Given the description of an element on the screen output the (x, y) to click on. 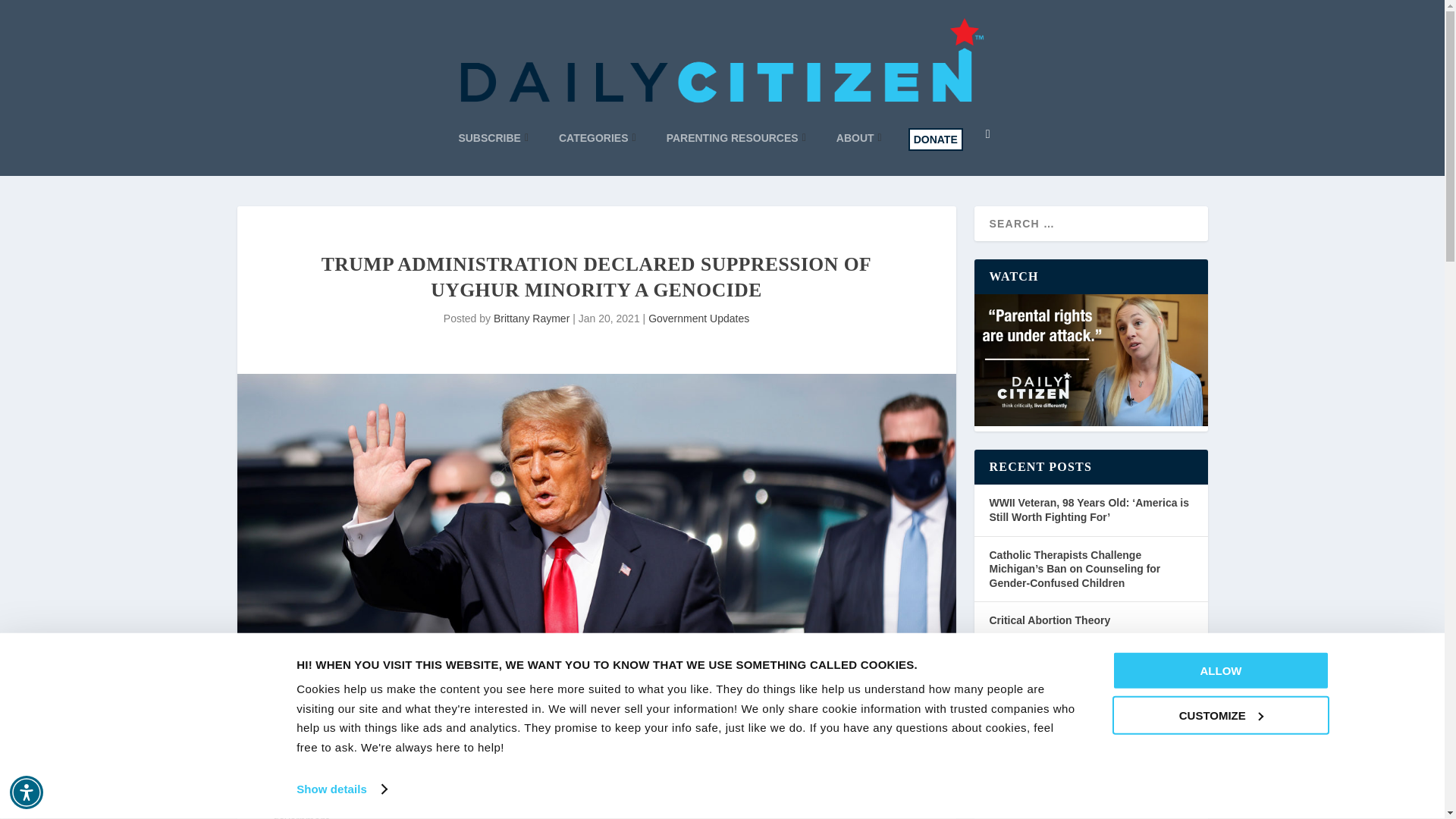
Accessibility Menu (26, 792)
Show details (341, 789)
